Given the description of an element on the screen output the (x, y) to click on. 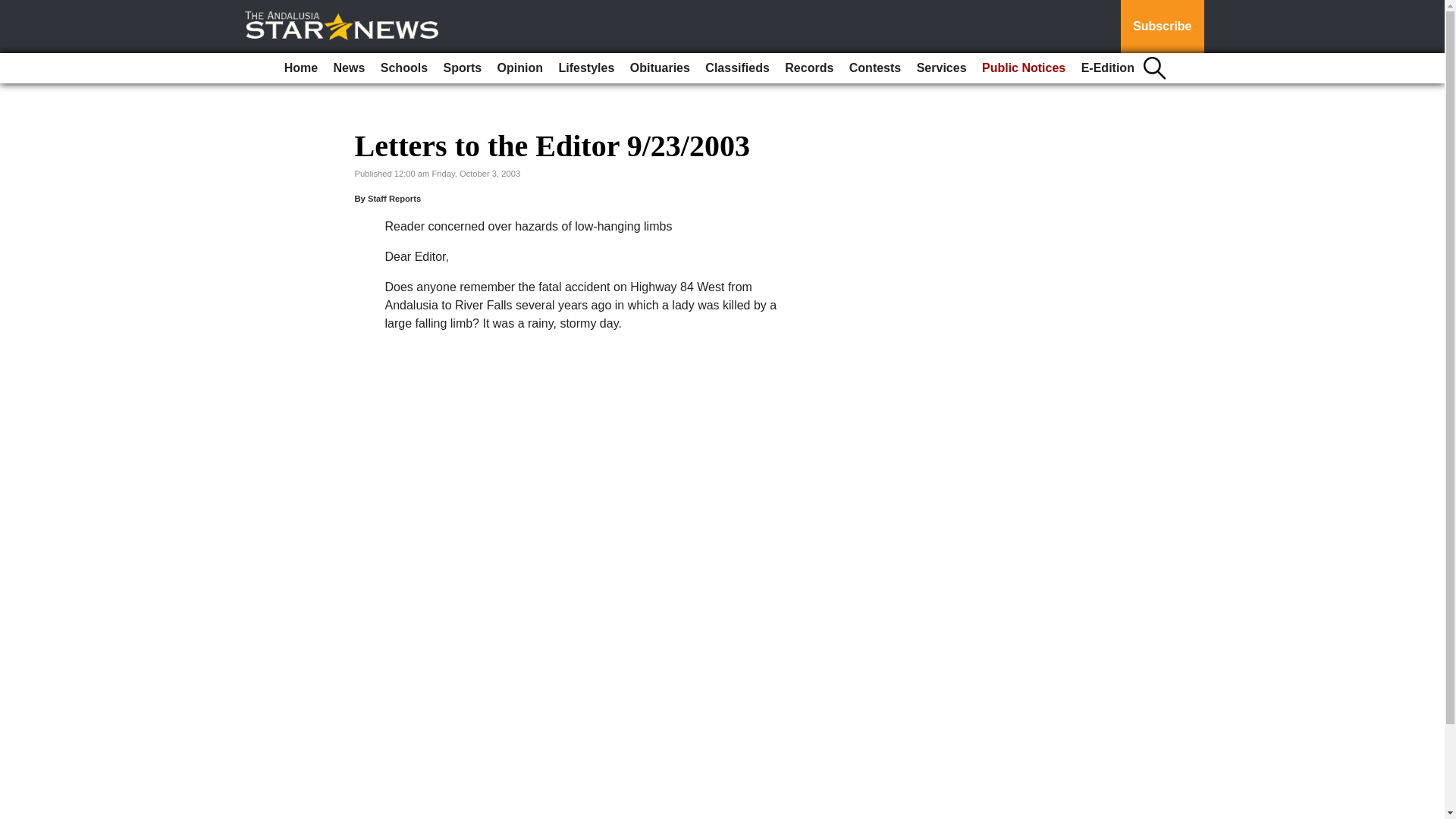
Staff Reports (394, 198)
Home (300, 68)
Subscribe (1162, 26)
Opinion (520, 68)
News (349, 68)
Contests (875, 68)
Public Notices (1023, 68)
E-Edition (1107, 68)
Services (941, 68)
Records (809, 68)
